Given the description of an element on the screen output the (x, y) to click on. 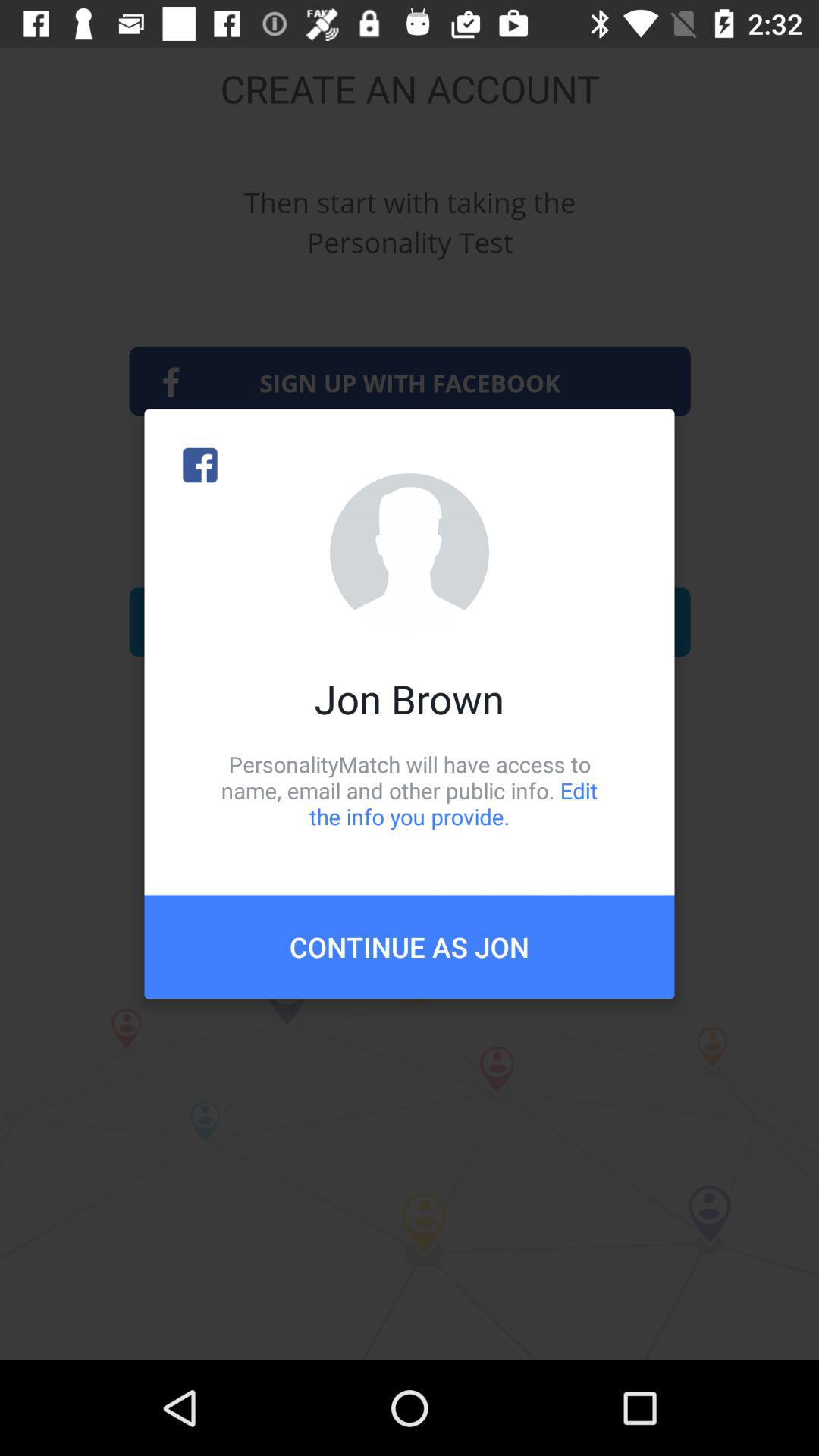
turn off the item below personalitymatch will have item (409, 946)
